Given the description of an element on the screen output the (x, y) to click on. 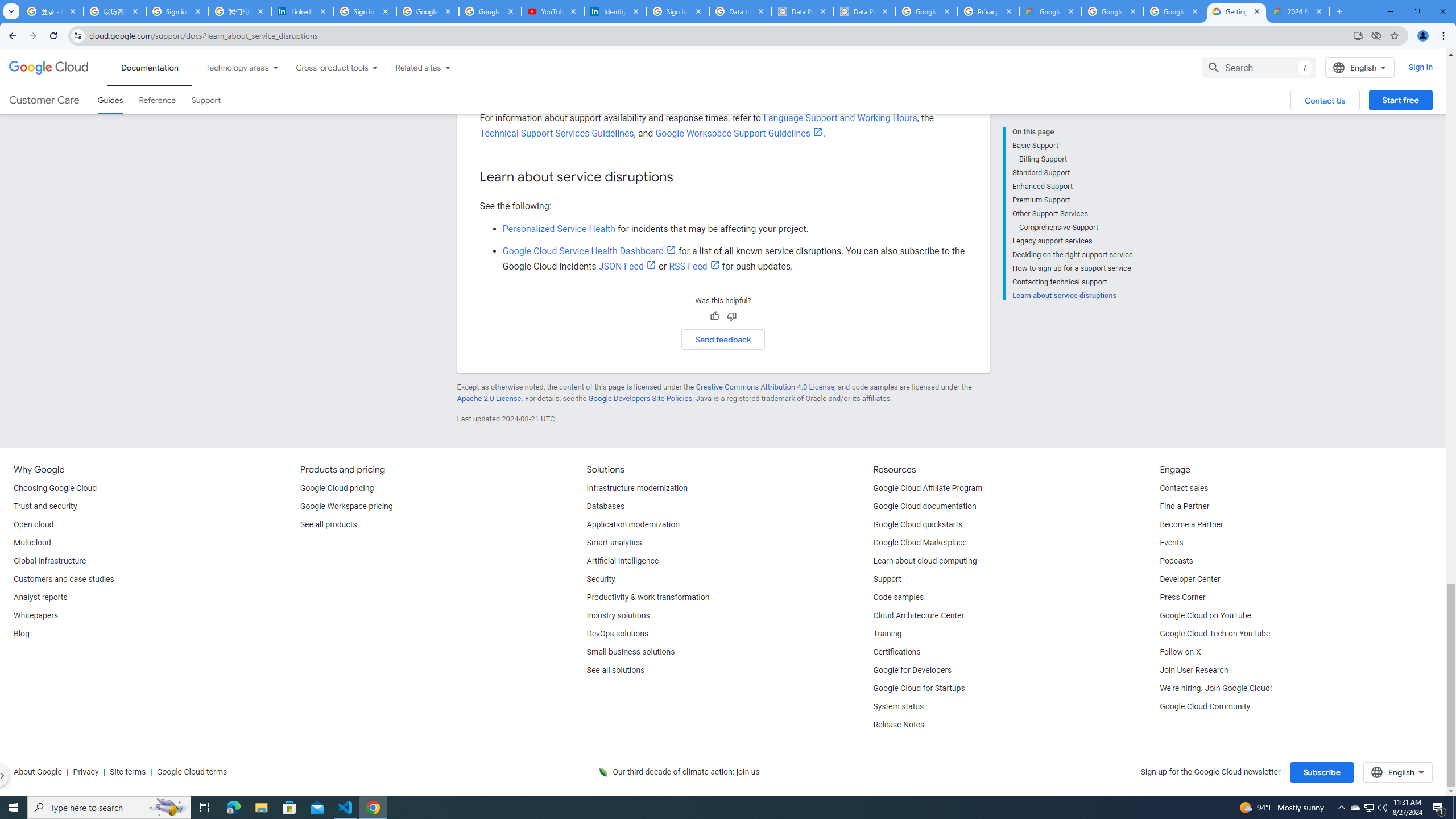
Install Google Cloud (1358, 35)
Join User Research (1193, 670)
Enhanced Support (1071, 186)
Google Workspace Support Guidelines (738, 132)
Google Cloud quickstarts (917, 524)
Other Support Services (1071, 213)
Cross-product tools (325, 67)
Follow on X (1179, 651)
Copy link to this section: Contacting technical support (669, 43)
Sign in - Google Accounts (678, 11)
Google for Developers (912, 670)
Cloud Architecture Center (918, 615)
